Given the description of an element on the screen output the (x, y) to click on. 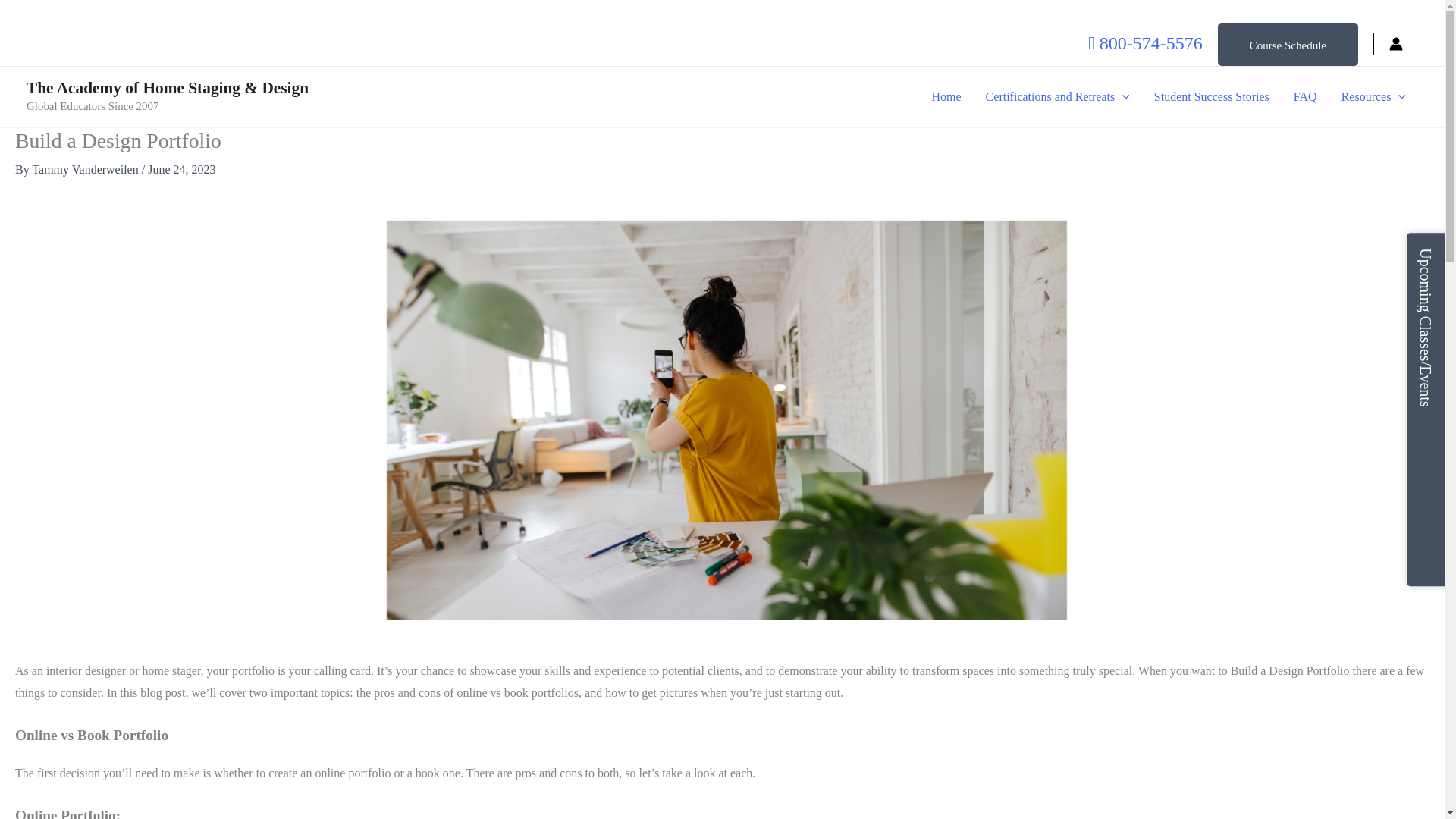
Course Schedule (1287, 44)
Student Success Stories (1211, 96)
Certifications and Retreats (1057, 96)
FAQ (1305, 96)
Home (945, 96)
Resources (1373, 96)
View all posts by Tammy Vanderweilen (86, 169)
